Given the description of an element on the screen output the (x, y) to click on. 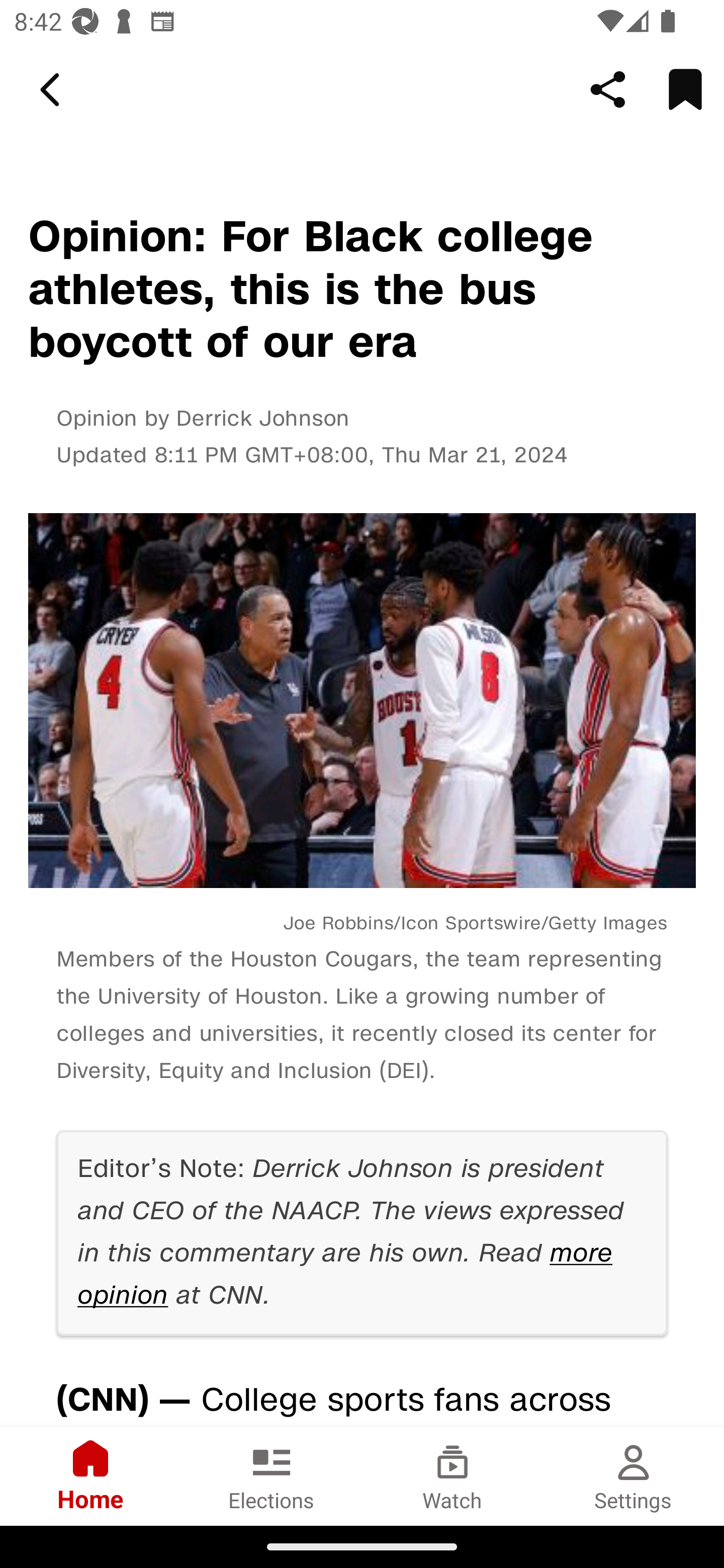
Back Button (52, 89)
Share (607, 89)
Bookmark (685, 89)
Elections (271, 1475)
Watch (452, 1475)
Settings (633, 1475)
